Given the description of an element on the screen output the (x, y) to click on. 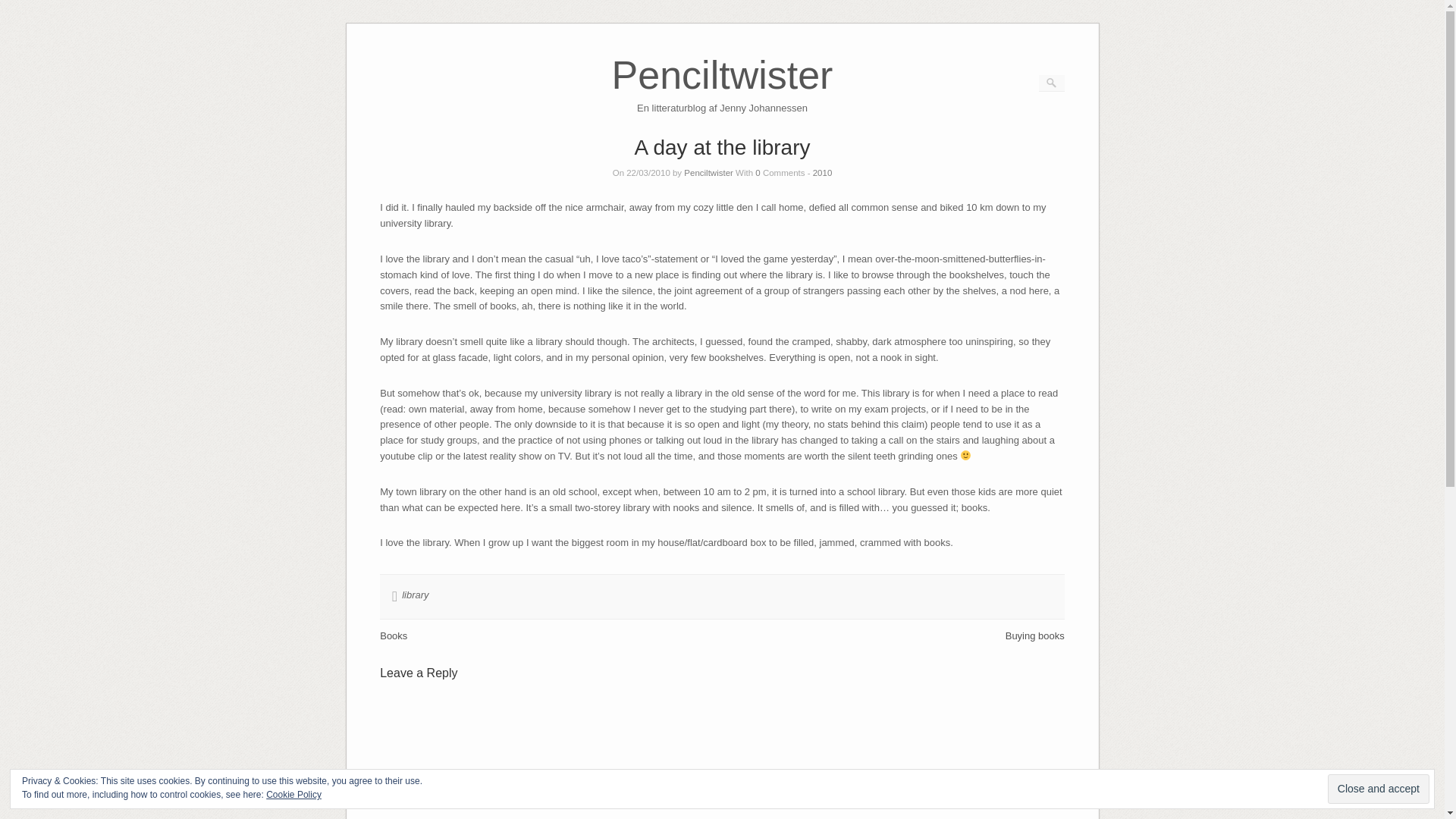
Penciltwister (708, 172)
Close and accept (1378, 788)
Search (21, 7)
2010 (822, 172)
Books (721, 96)
Close and accept (393, 635)
En litteraturblog af Jenny Johannessen (1378, 788)
Skip to content (721, 96)
